Given the description of an element on the screen output the (x, y) to click on. 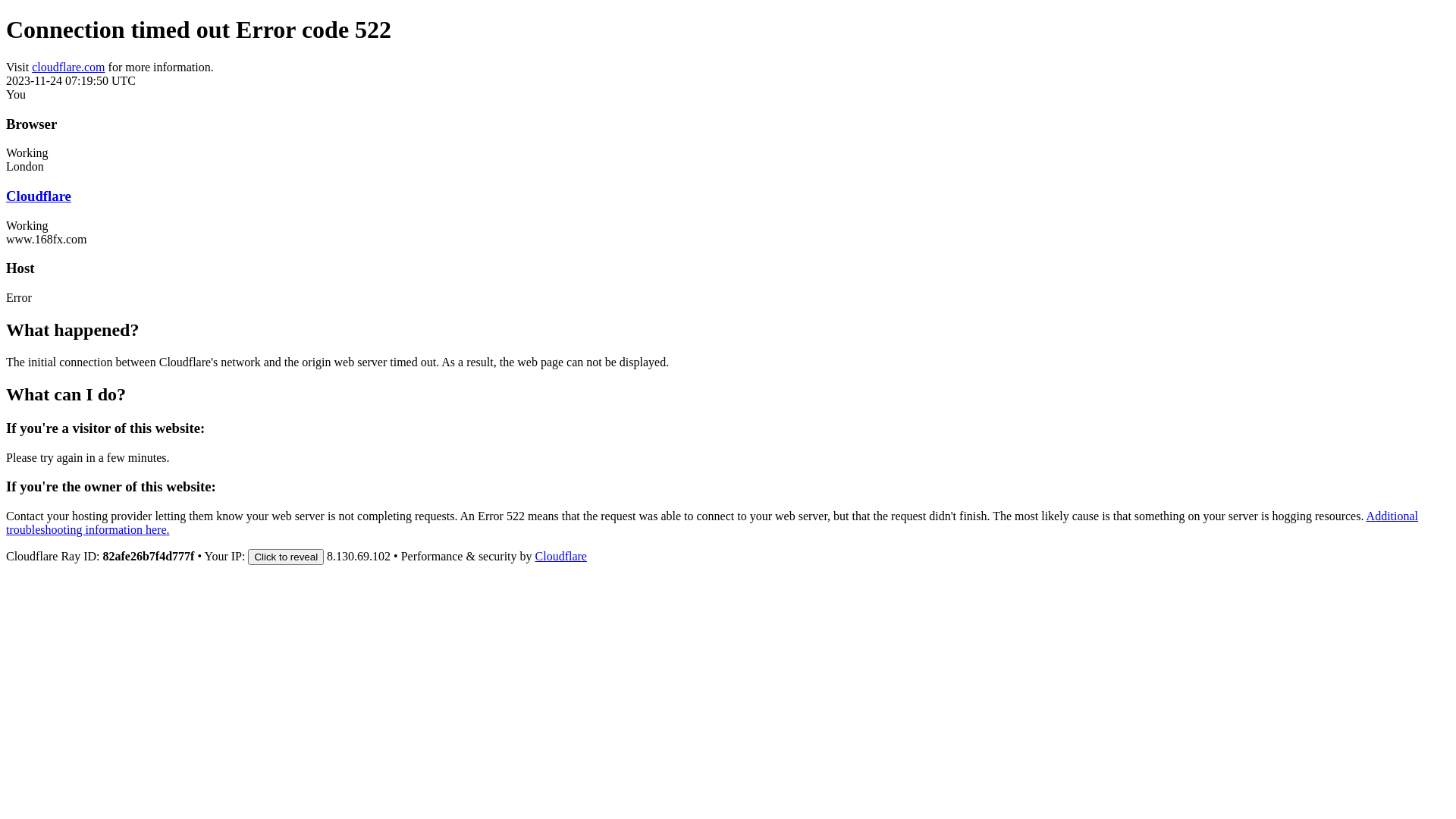
Click to reveal Element type: text (285, 556)
Cloudflare Element type: text (38, 195)
Additional troubleshooting information here. Element type: text (712, 522)
cloudflare.com Element type: text (67, 66)
Cloudflare Element type: text (560, 555)
